Given the description of an element on the screen output the (x, y) to click on. 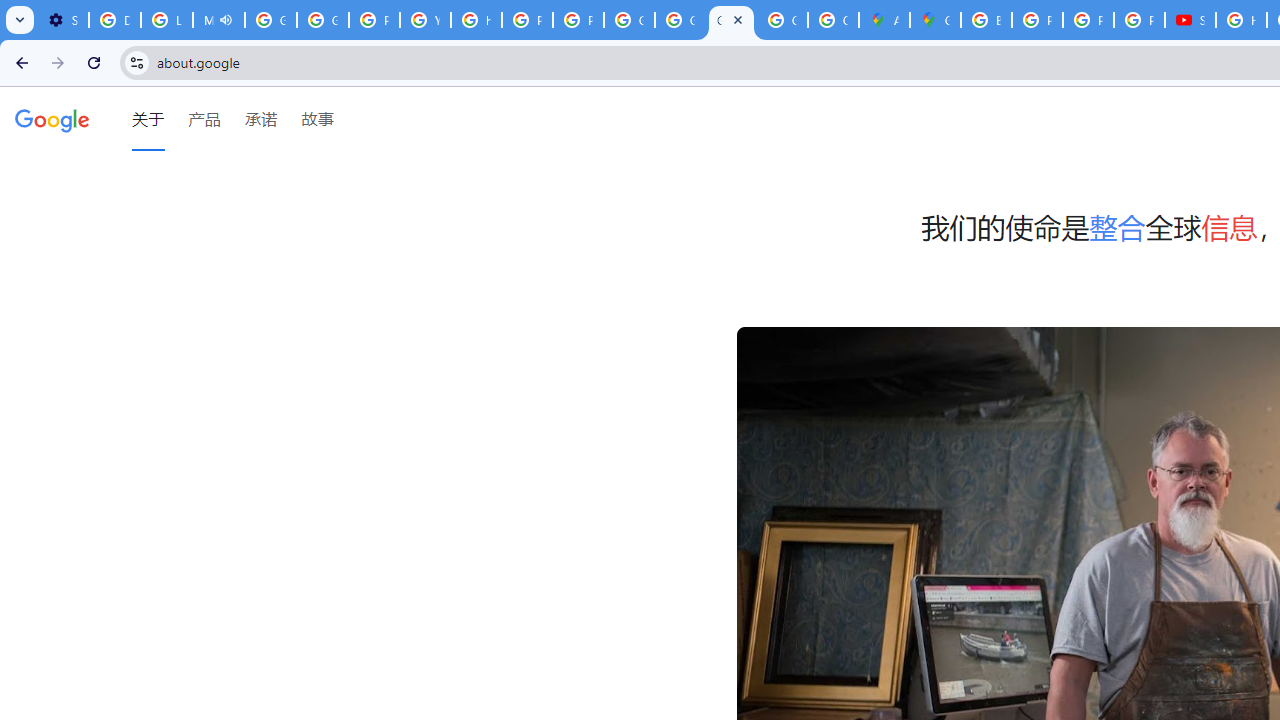
Settings - Customize profile (63, 20)
Blogger Policies and Guidelines - Transparency Center (986, 20)
Subscriptions - YouTube (1189, 20)
Privacy Help Center - Policies Help (1087, 20)
Privacy Help Center - Policies Help (526, 20)
Learn how to find your photos - Google Photos Help (166, 20)
Delete photos & videos - Computer - Google Photos Help (114, 20)
